Given the description of an element on the screen output the (x, y) to click on. 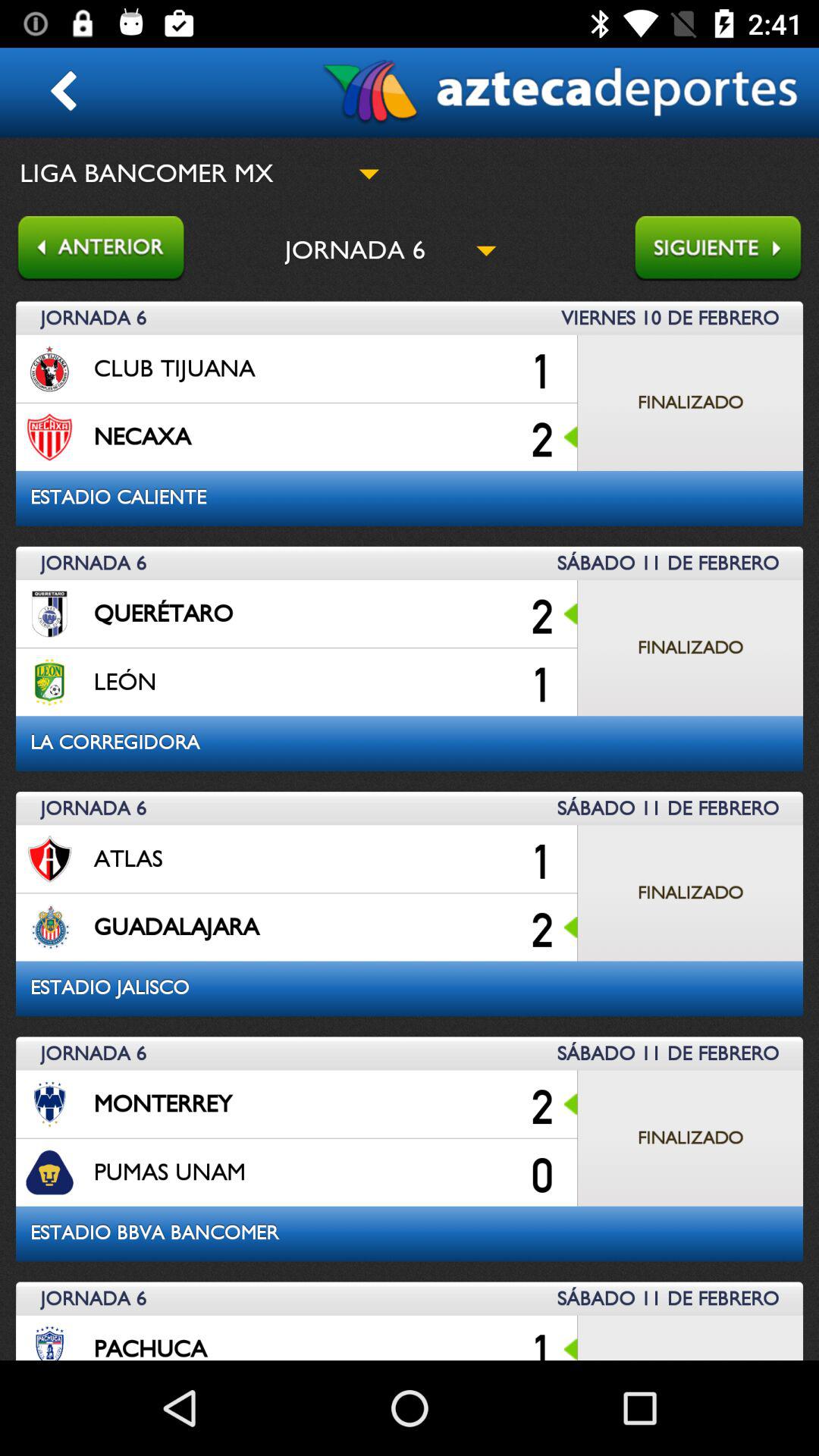
go back (92, 249)
